Given the description of an element on the screen output the (x, y) to click on. 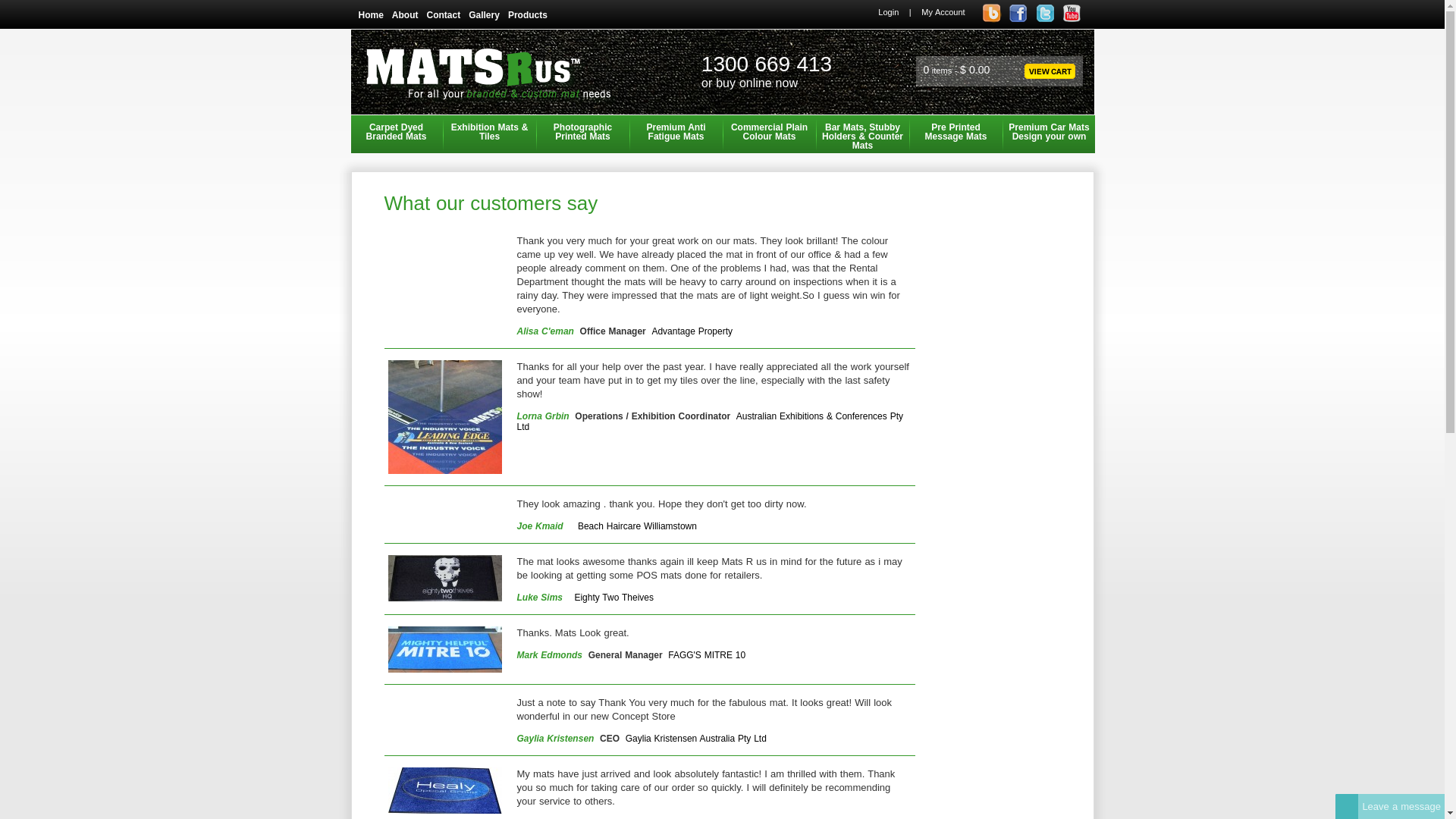
Photographic Printed Mats Element type: text (581, 134)
MatsRus logo - for all your branded & custome mat needs Element type: hover (490, 77)
My Account Element type: text (942, 11)
Home Element type: hover (490, 103)
Eighty Two Thieves Carpet Dyed Branded mat 60 x 90cm Element type: hover (445, 578)
About Element type: text (409, 14)
Products Element type: text (531, 14)
Login Element type: text (888, 11)
Pre Printed Message Mats Element type: text (955, 134)
Offline Element type: hover (1346, 805)
Premium Car Mats Design your own Element type: text (1049, 134)
Premium Anti Fatigue Mats Element type: text (675, 134)
Carpet Dyed Branded Mats Element type: text (395, 134)
Healey Optical Group Element type: hover (445, 790)
Blog Element type: hover (991, 19)
Exhibition Tiles & Mats Element type: hover (445, 416)
YouTube account Element type: hover (1071, 19)
MatsRus YouTube check out our videos Element type: hover (1070, 12)
Contact Element type: text (447, 14)
Twitter account Element type: hover (1044, 19)
Exhibition Mats & Tiles Element type: text (489, 134)
Gallery Element type: text (488, 14)
MatsRus Facebook account - click to like Element type: hover (1017, 12)
Mitre 10 - Logo dyed entrance mat Element type: hover (445, 649)
Home Element type: text (374, 14)
Commercial Plain Colour Mats Element type: text (768, 134)
MatsRus twitter follow us Element type: hover (1044, 12)
Facebook account Element type: hover (1018, 19)
Bar Mats, Stubby Holders & Counter Mats Element type: text (862, 134)
MatsRus Blog Element type: hover (991, 12)
